Given the description of an element on the screen output the (x, y) to click on. 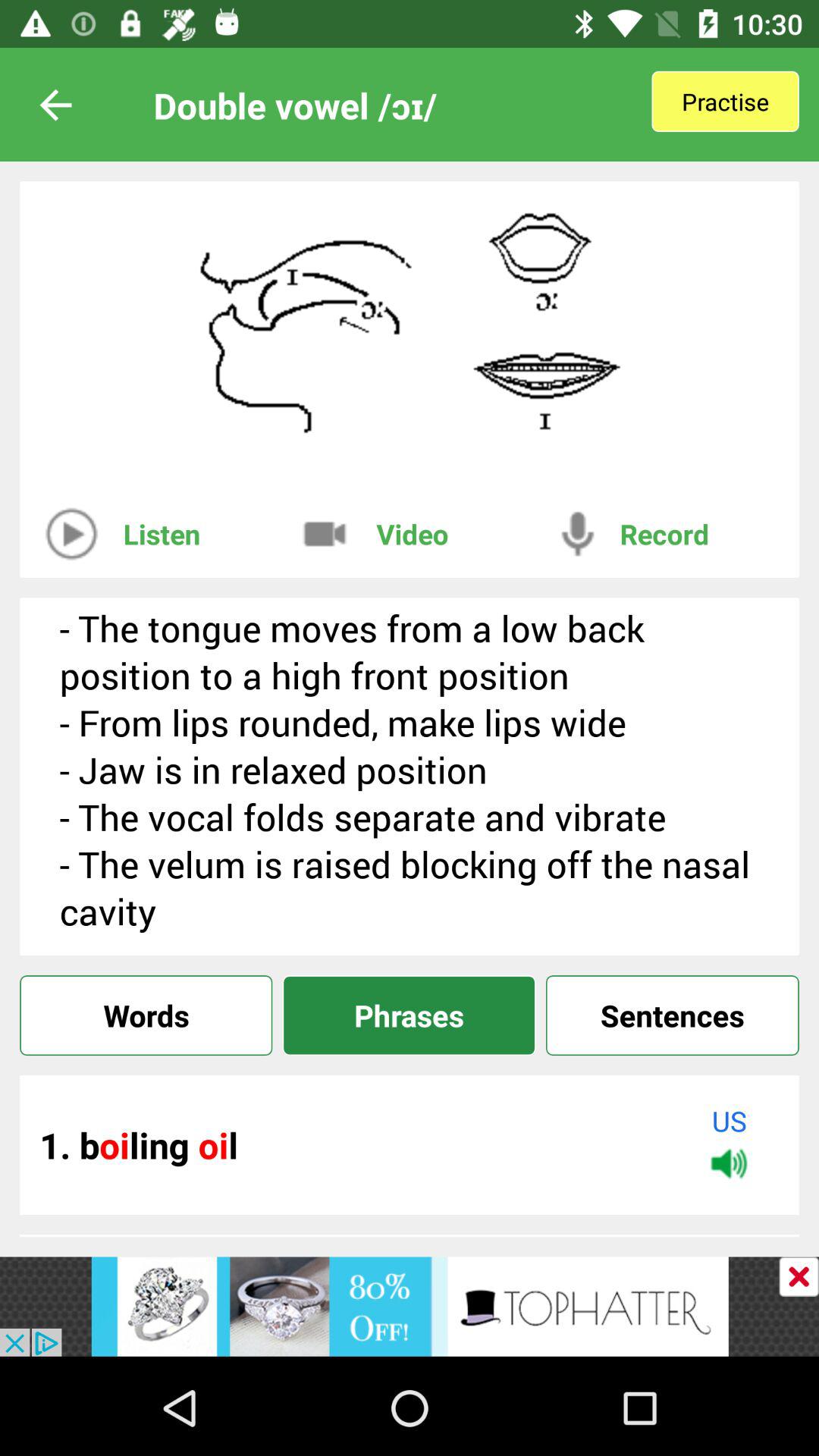
close advertisements (799, 1276)
